Given the description of an element on the screen output the (x, y) to click on. 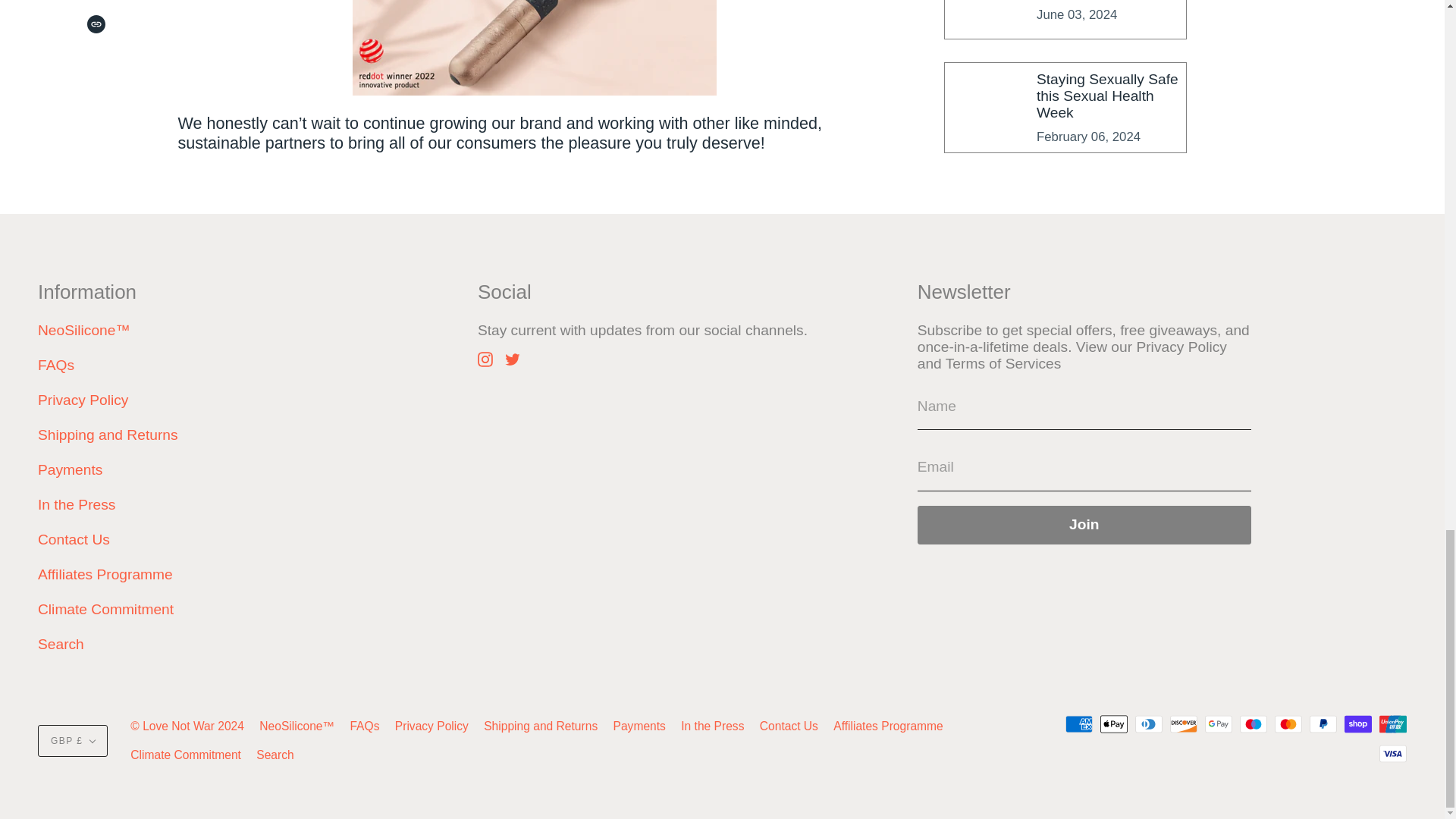
Diners Club (1148, 723)
American Express (1079, 723)
Shop Pay (1357, 723)
Maestro (1253, 723)
Discover (1183, 723)
Love Not War on Instagram (485, 358)
Visa (1392, 753)
PayPal (1322, 723)
Google Pay (1218, 723)
Love Not War on Twitter (512, 358)
Mastercard (1288, 723)
Apple Pay (1113, 723)
Union Pay (1392, 723)
